Given the description of an element on the screen output the (x, y) to click on. 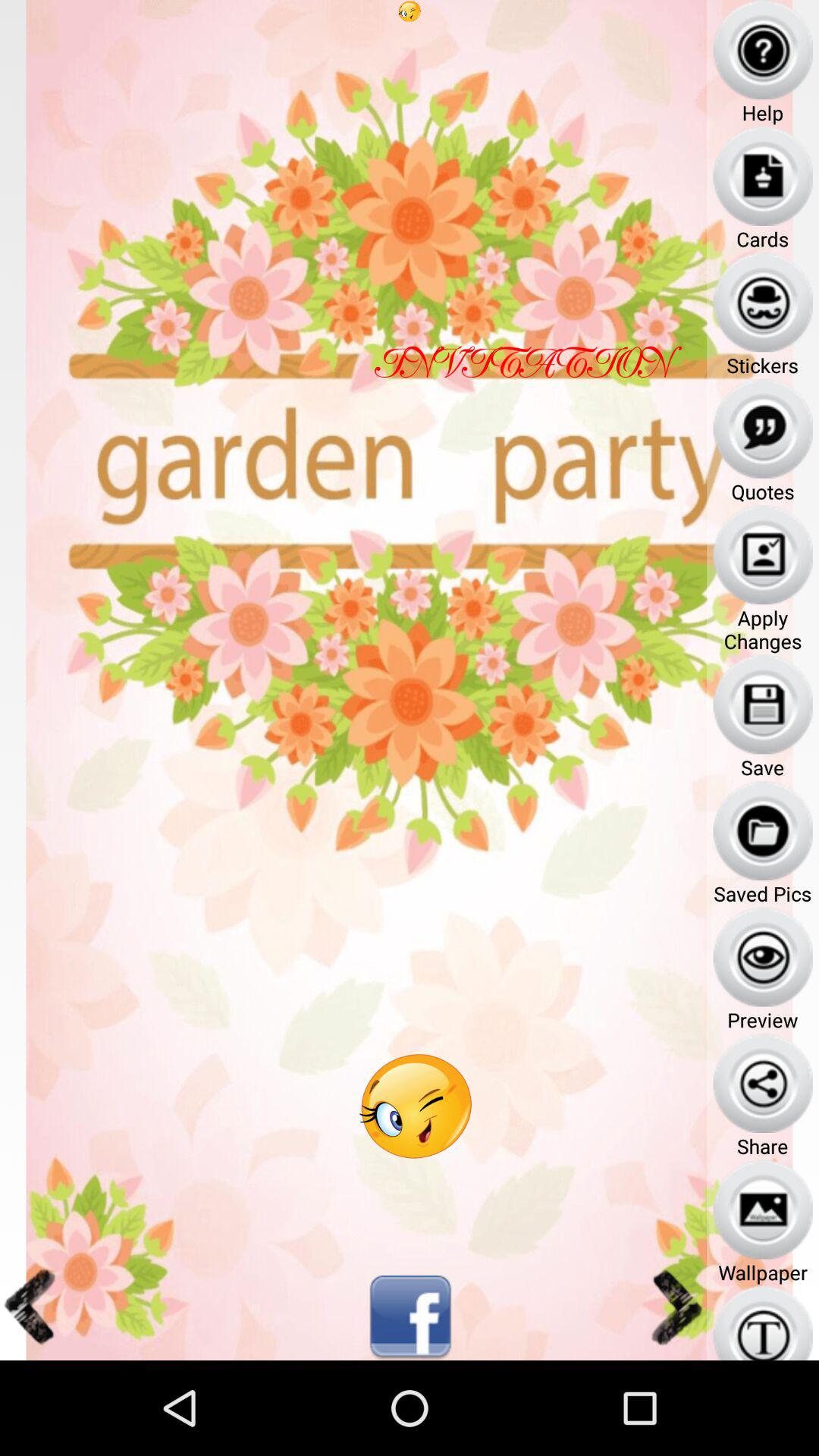
click on the icon above the text cards (763, 175)
select the icon below wallpaper text (763, 1322)
select a button which is below cards on a page (763, 301)
click on the next arrow option at the down of the page (674, 1306)
click on quotes (763, 428)
go to wallpaper (763, 1208)
